Given the description of an element on the screen output the (x, y) to click on. 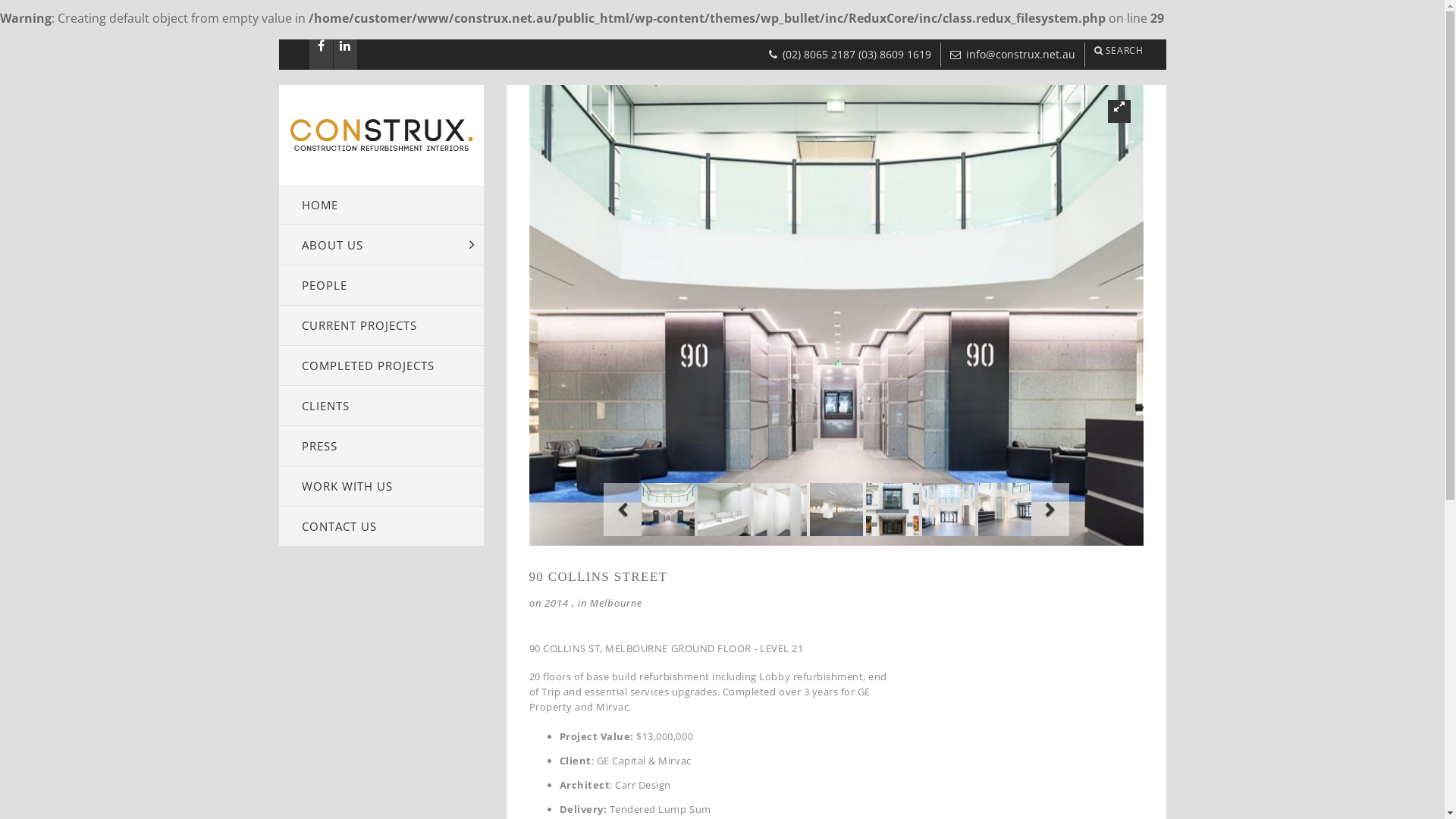
WORK WITH US Element type: text (381, 485)
PRESS Element type: text (381, 445)
COMPLETED PROJECTS Element type: text (381, 365)
CONTACT US Element type: text (381, 526)
CLIENTS Element type: text (381, 405)
ABOUT US Element type: text (381, 244)
HOME Element type: text (381, 204)
PEOPLE Element type: text (381, 284)
Melbourne Element type: text (615, 602)
SEARCH Element type: text (1114, 49)
CURRENT PROJECTS Element type: text (381, 325)
